Given the description of an element on the screen output the (x, y) to click on. 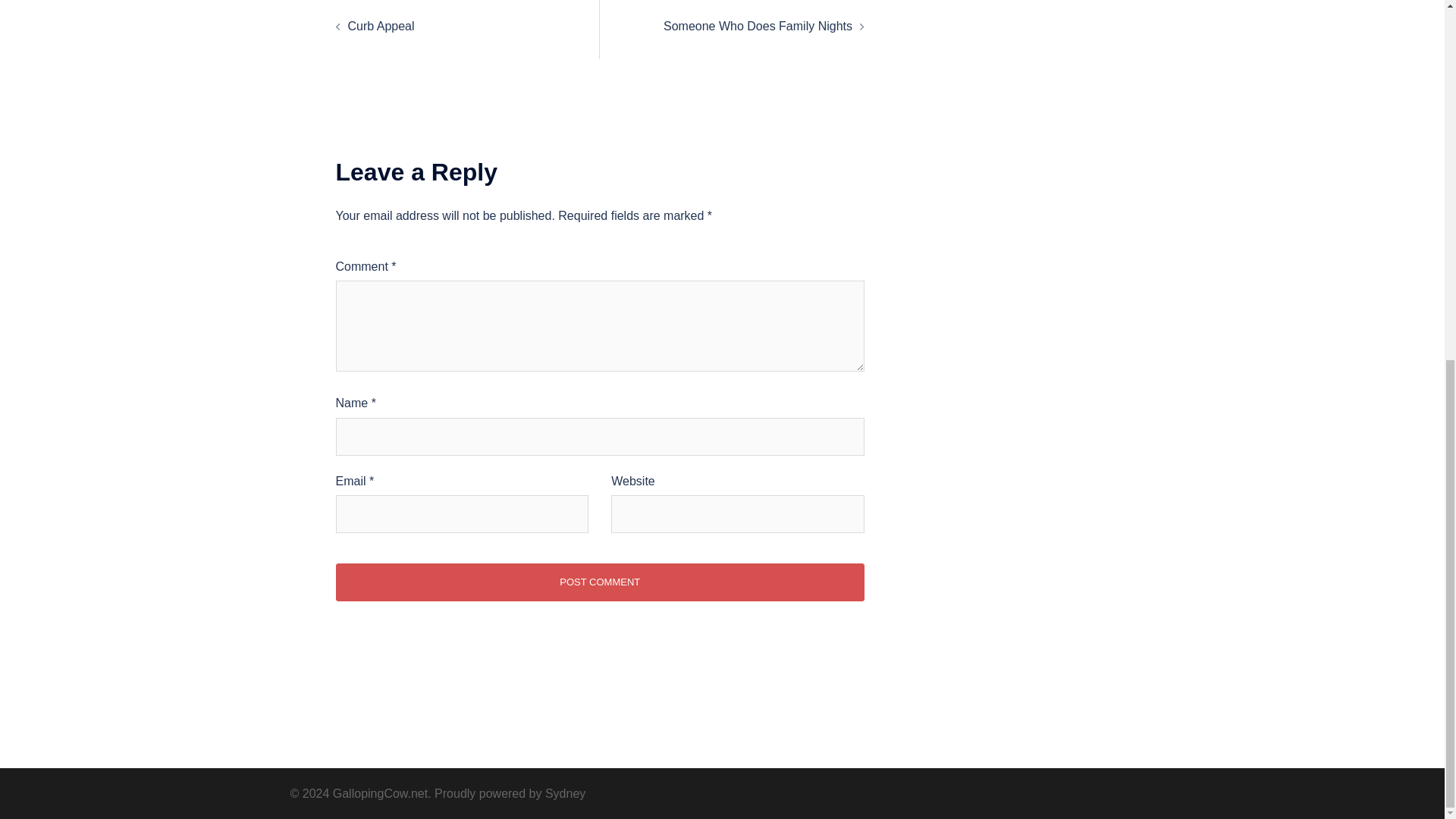
Post Comment (599, 582)
Sydney (564, 793)
Curb Appeal (380, 25)
Post Comment (599, 582)
Someone Who Does Family Nights (757, 25)
